Given the description of an element on the screen output the (x, y) to click on. 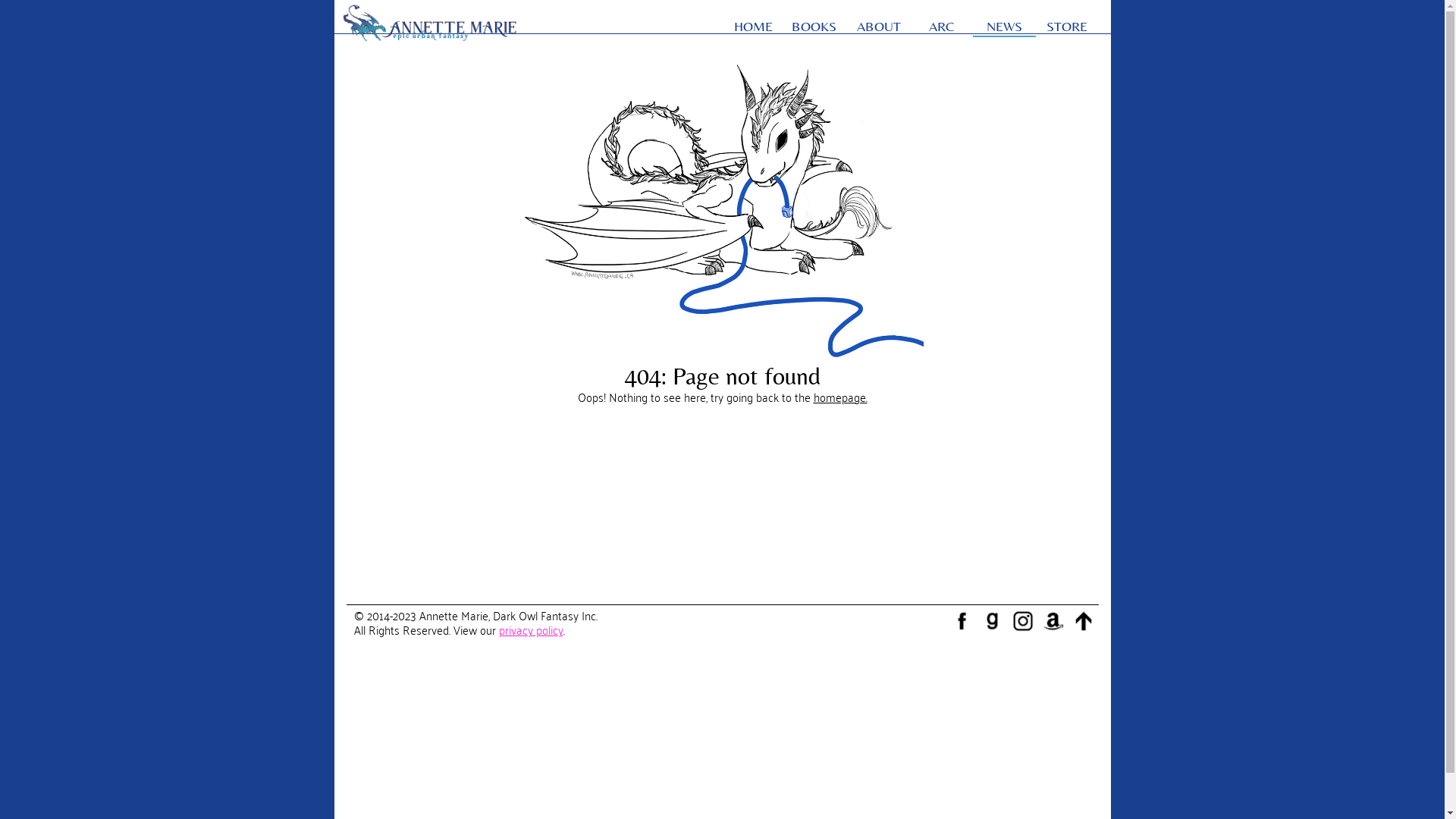
HOME Element type: text (752, 26)
ABOUT Element type: text (878, 26)
ARC Element type: text (941, 26)
homepage. Element type: text (839, 396)
NEWS Element type: text (1003, 26)
STORE Element type: text (1066, 26)
BOOKS  Element type: text (815, 26)
privacy policy Element type: text (530, 629)
